Given the description of an element on the screen output the (x, y) to click on. 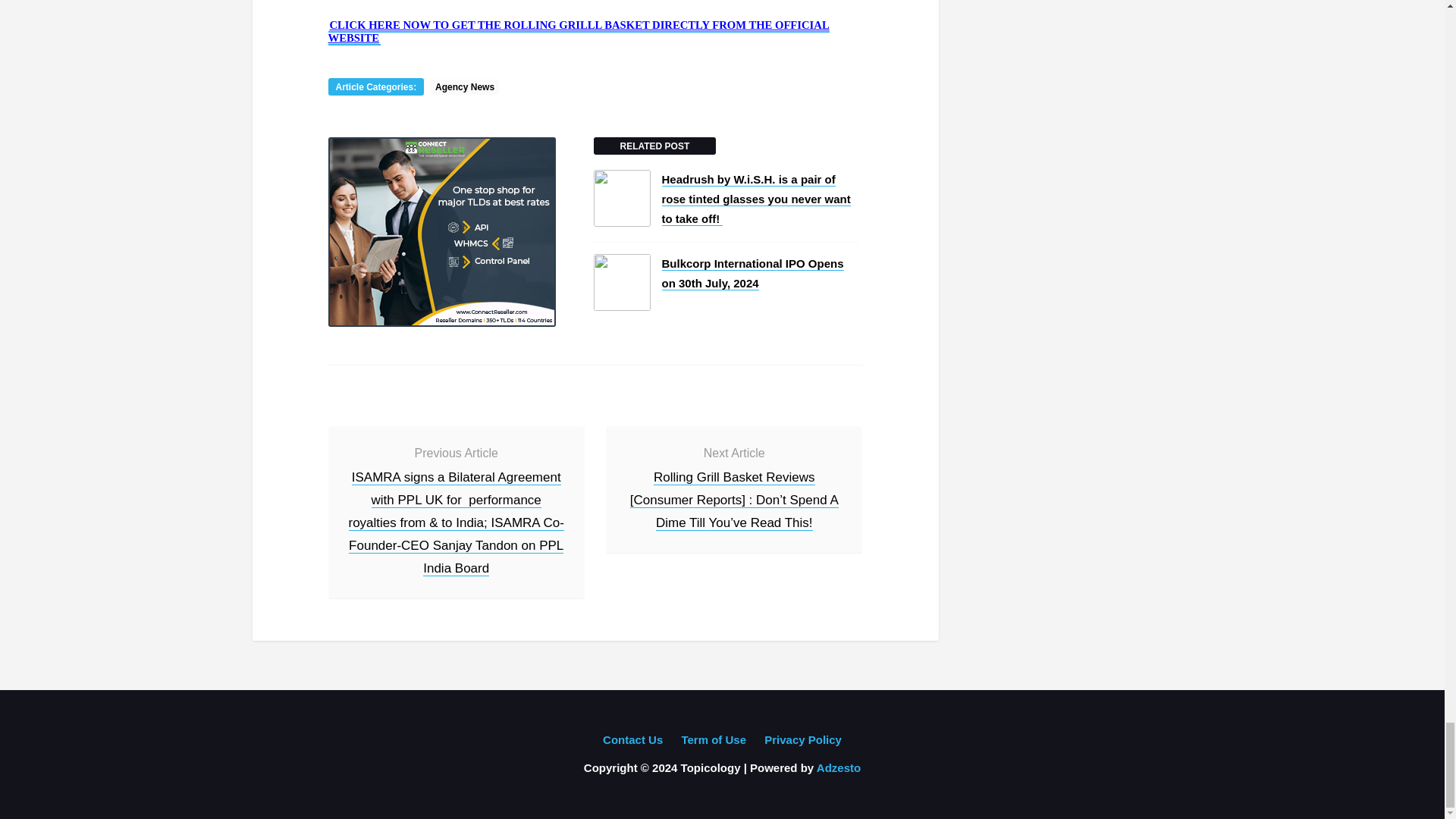
Bulkcorp International IPO Opens on 30th July, 2024 (752, 273)
Agency News (464, 87)
